Given the description of an element on the screen output the (x, y) to click on. 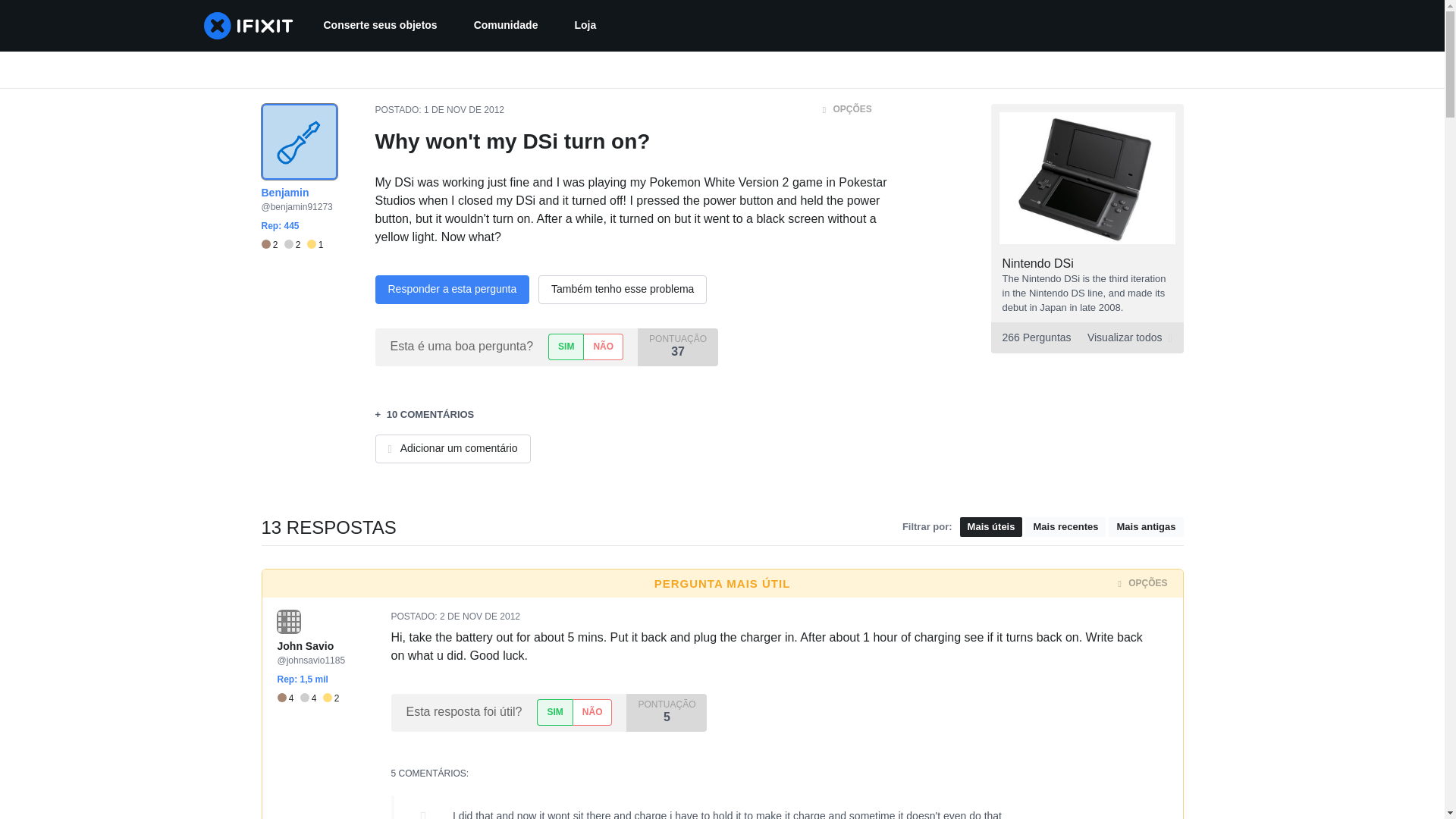
Fri, 02 Nov 2012 01:23:33 -0700 (479, 615)
SIM (565, 346)
Nintendo DSi (1038, 263)
Loja (585, 25)
Comunidade (505, 25)
Conserte seus objetos (379, 25)
1 emblemas de Ouro (315, 245)
Responder a esta pergunta (451, 289)
2 emblemas de Bronze (271, 245)
2 2 1 (291, 245)
4 emblemas de Prata (311, 698)
POSTADO: 1 DE NOV DE 2012 (438, 109)
2 emblemas de Prata (295, 245)
2 emblemas de Ouro (331, 698)
4 emblemas de Bronze (288, 698)
